Given the description of an element on the screen output the (x, y) to click on. 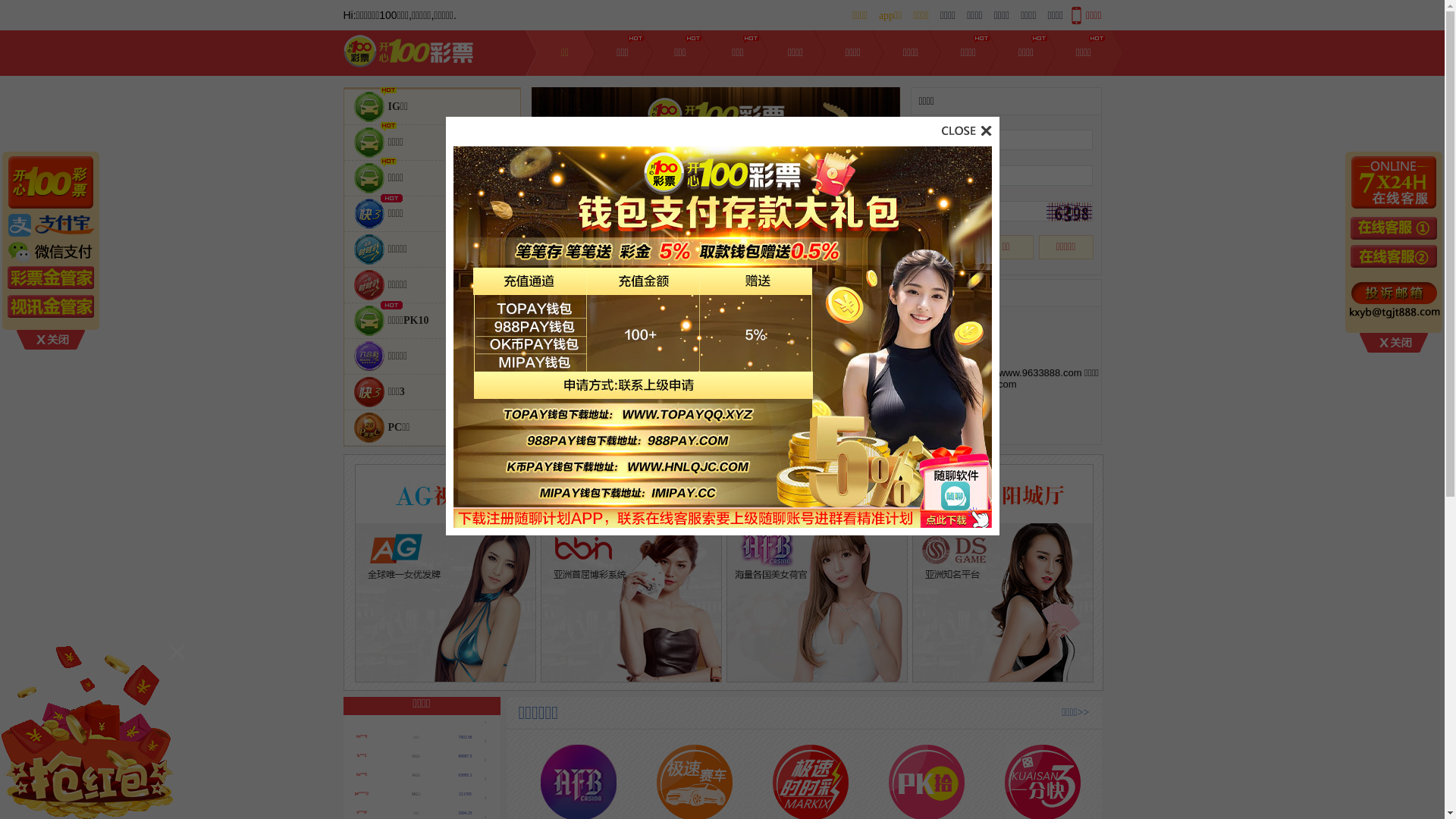
0 Element type: text (630, 573)
0 Element type: text (816, 573)
0 Element type: text (1001, 573)
0 Element type: text (445, 573)
close image gallery Element type: hover (966, 127)
